Given the description of an element on the screen output the (x, y) to click on. 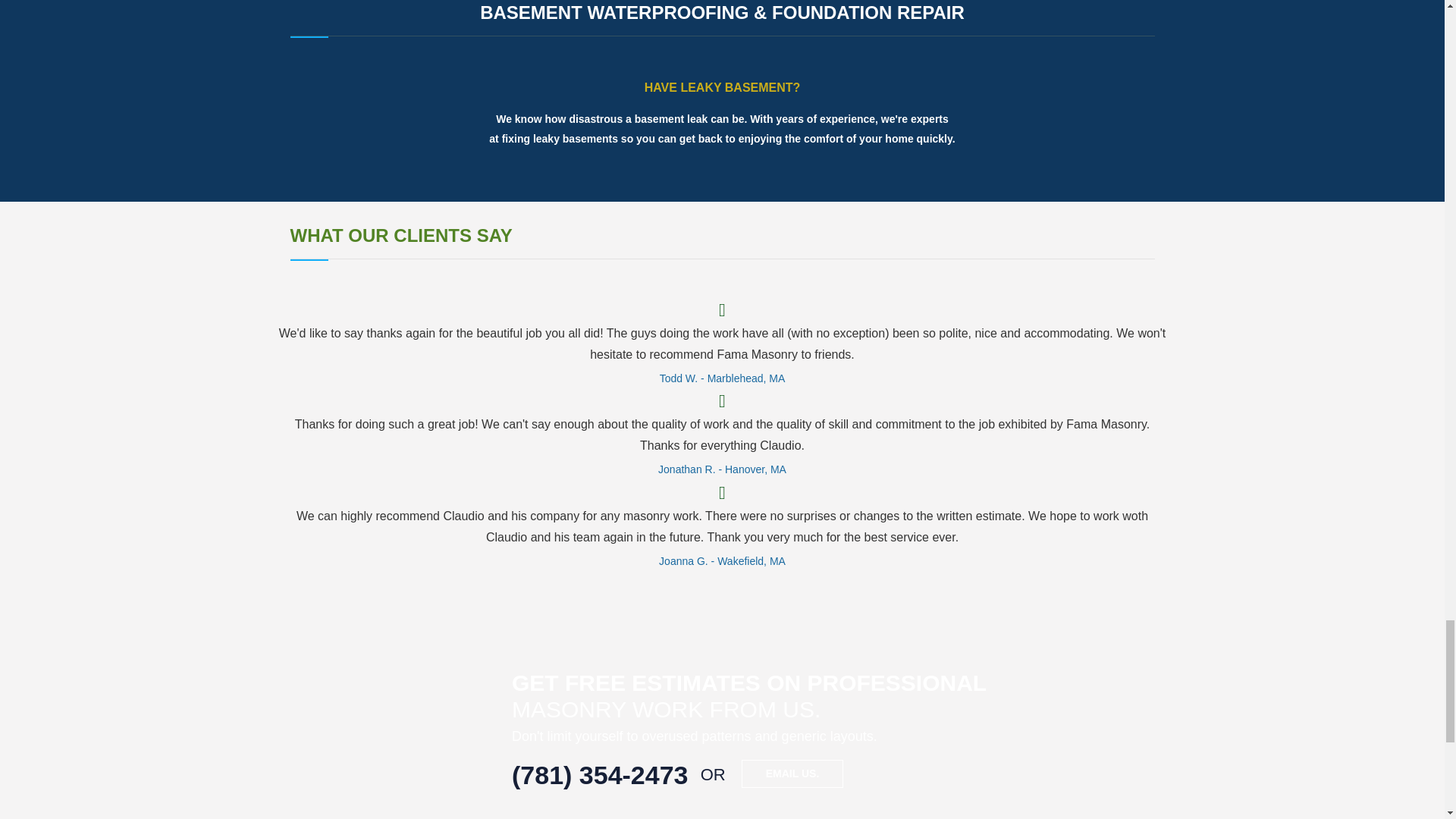
EMAIL US. (792, 773)
